Given the description of an element on the screen output the (x, y) to click on. 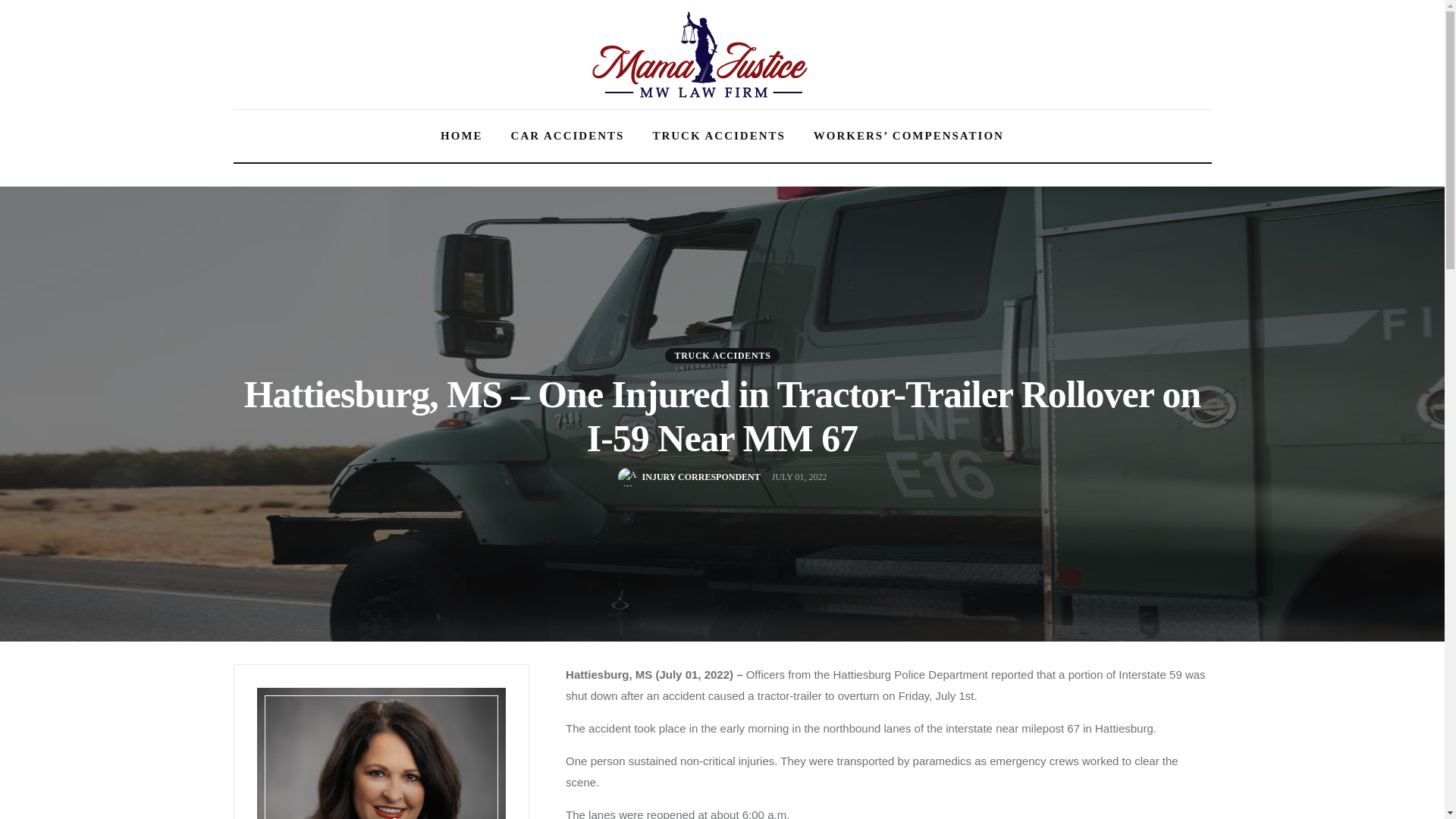
CAR ACCIDENTS (567, 135)
TRUCK ACCIDENTS (718, 135)
INJURY CORRESPONDENT (688, 476)
TRUCK ACCIDENTS (721, 354)
HOME (462, 135)
Gravatar for Injury Correspondent (627, 476)
